Given the description of an element on the screen output the (x, y) to click on. 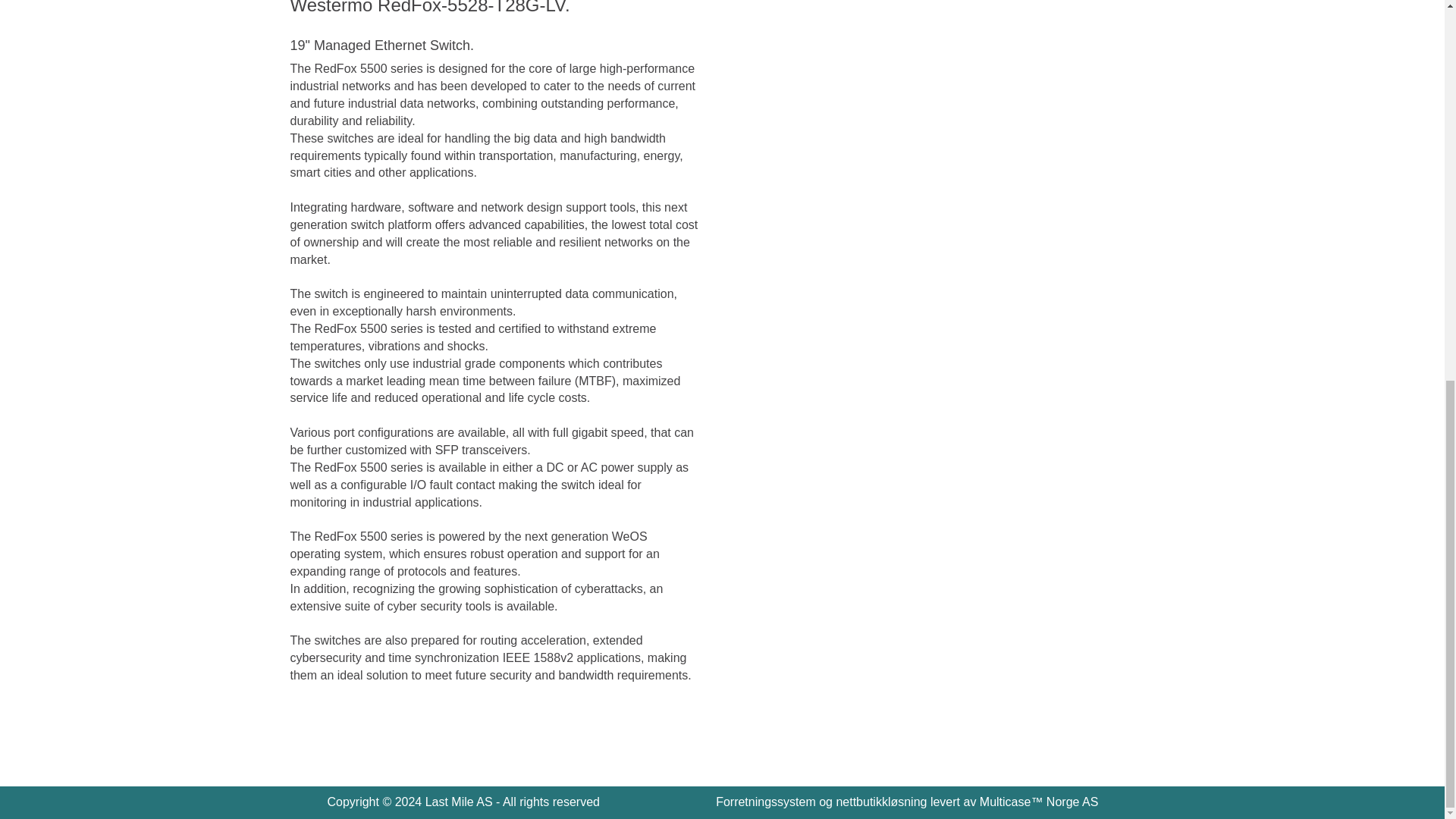
Forretningssystem (765, 801)
